Given the description of an element on the screen output the (x, y) to click on. 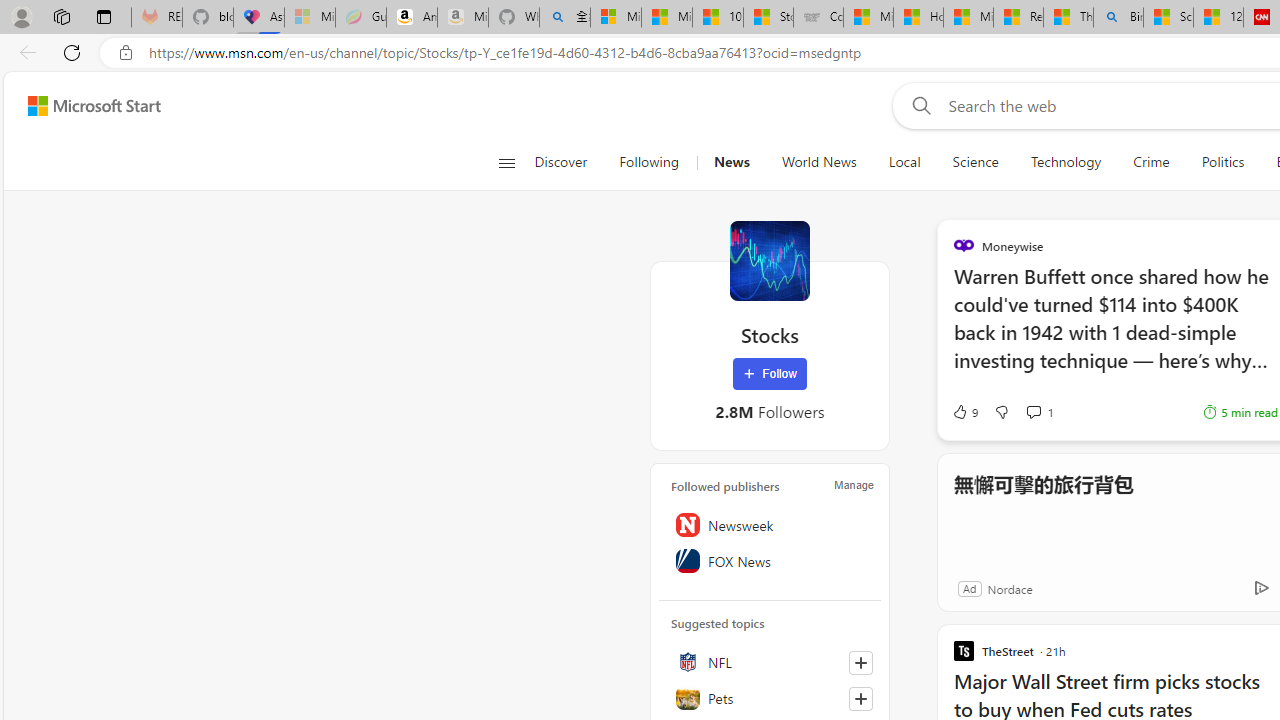
Technology (1065, 162)
View comments 1 Comment (1033, 411)
12 Popular Science Lies that Must be Corrected (1218, 17)
Recipes - MSN (1018, 17)
Web search (917, 105)
World News (818, 162)
Pets (770, 697)
Discover (560, 162)
Class: button-glyph (505, 162)
